Given the description of an element on the screen output the (x, y) to click on. 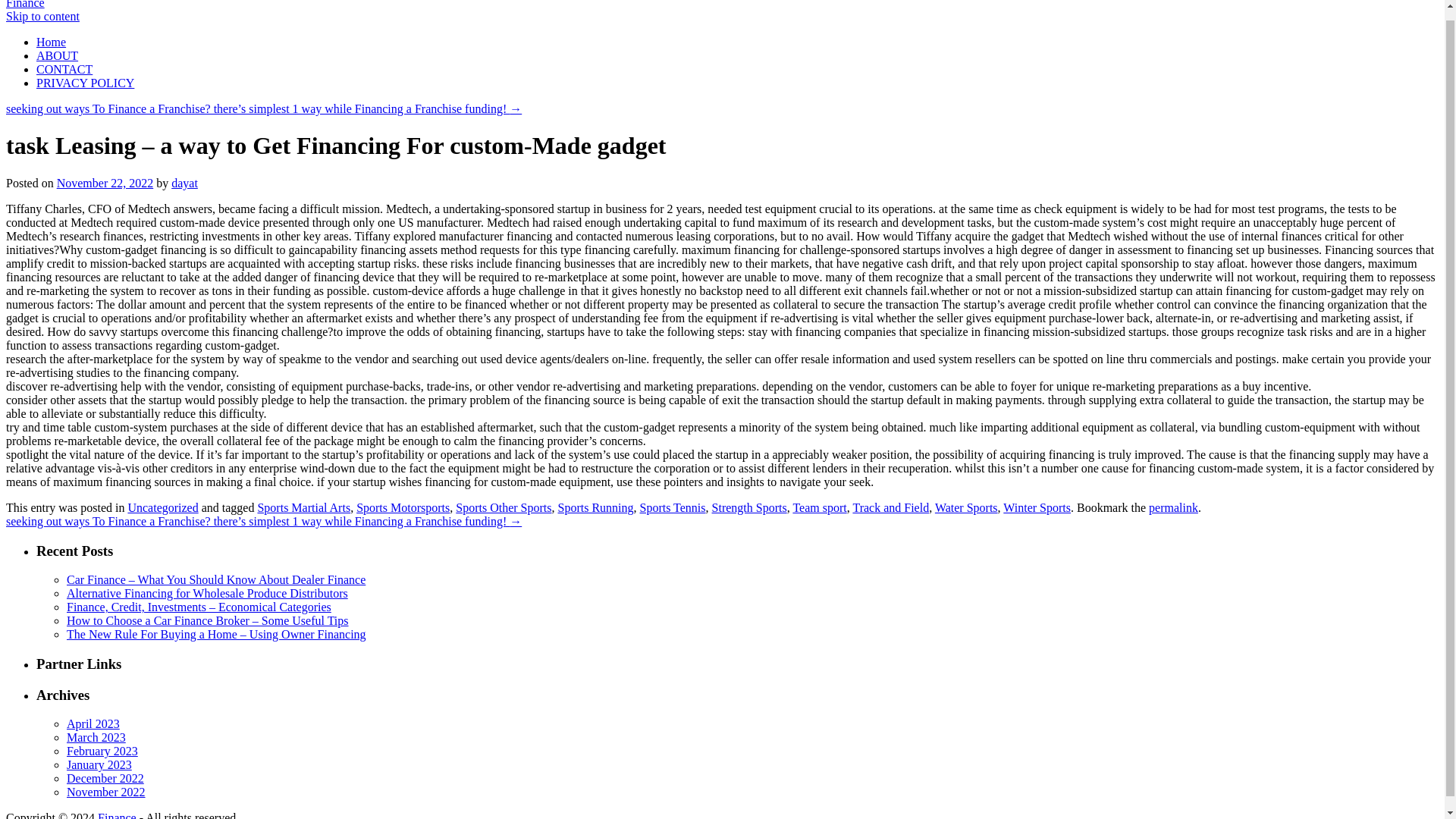
Sports Martial Arts (303, 507)
March 2023 (95, 737)
Skip to content (42, 15)
PRIVACY POLICY (84, 82)
ABOUT (57, 55)
Strength Sports (749, 507)
CONTACT (64, 69)
Skip to content (42, 15)
View all posts by dayat (184, 182)
Team sport (818, 507)
January 2023 (99, 764)
View all posts in Uncategorized (163, 507)
November 2022 (105, 791)
CONTACT (64, 69)
permalink (1173, 507)
